Given the description of an element on the screen output the (x, y) to click on. 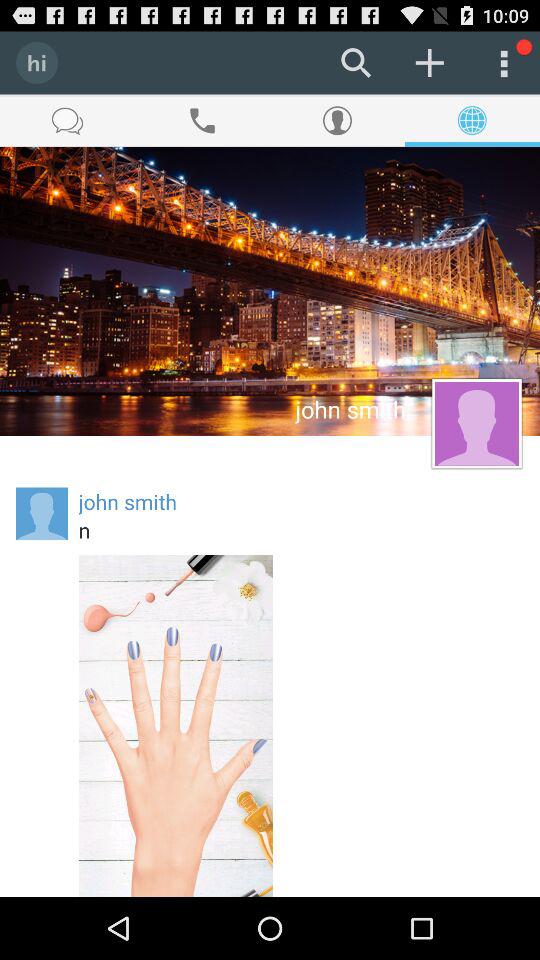
turn off the icon below the john smith item (301, 530)
